Given the description of an element on the screen output the (x, y) to click on. 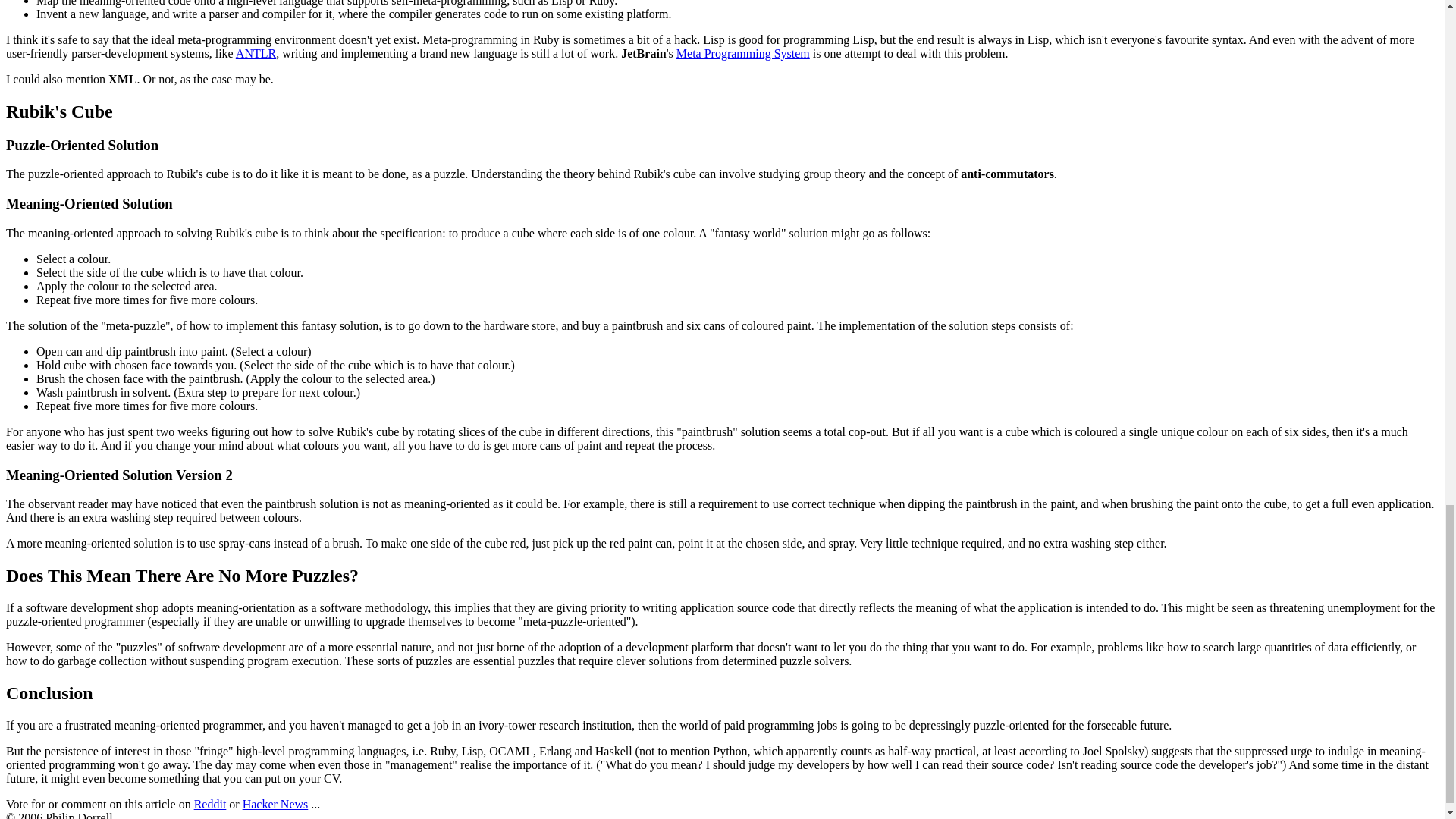
ANTLR (255, 52)
Meta Programming System (743, 52)
Reddit (210, 803)
Hacker News (275, 803)
